Given the description of an element on the screen output the (x, y) to click on. 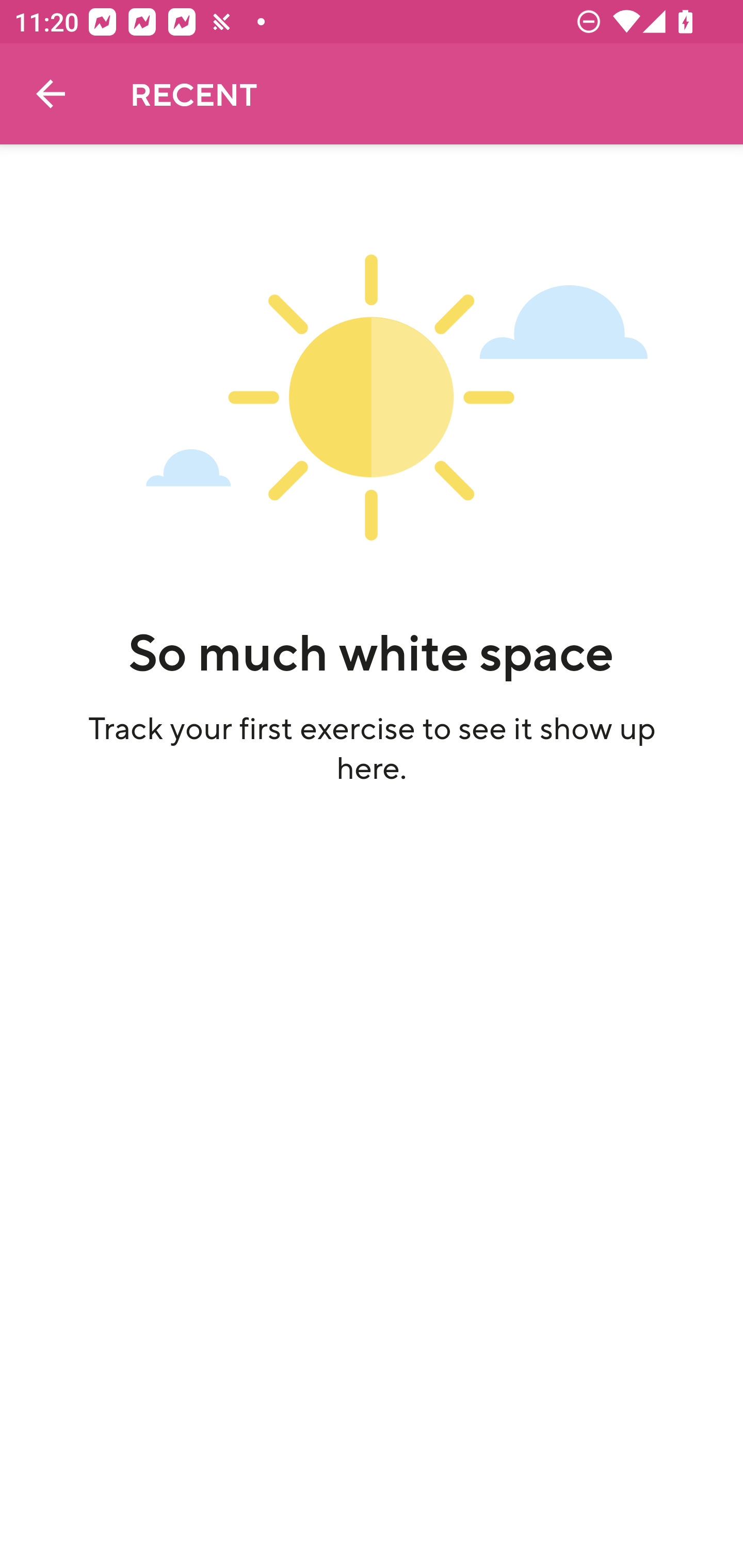
Navigate up (50, 93)
